Given the description of an element on the screen output the (x, y) to click on. 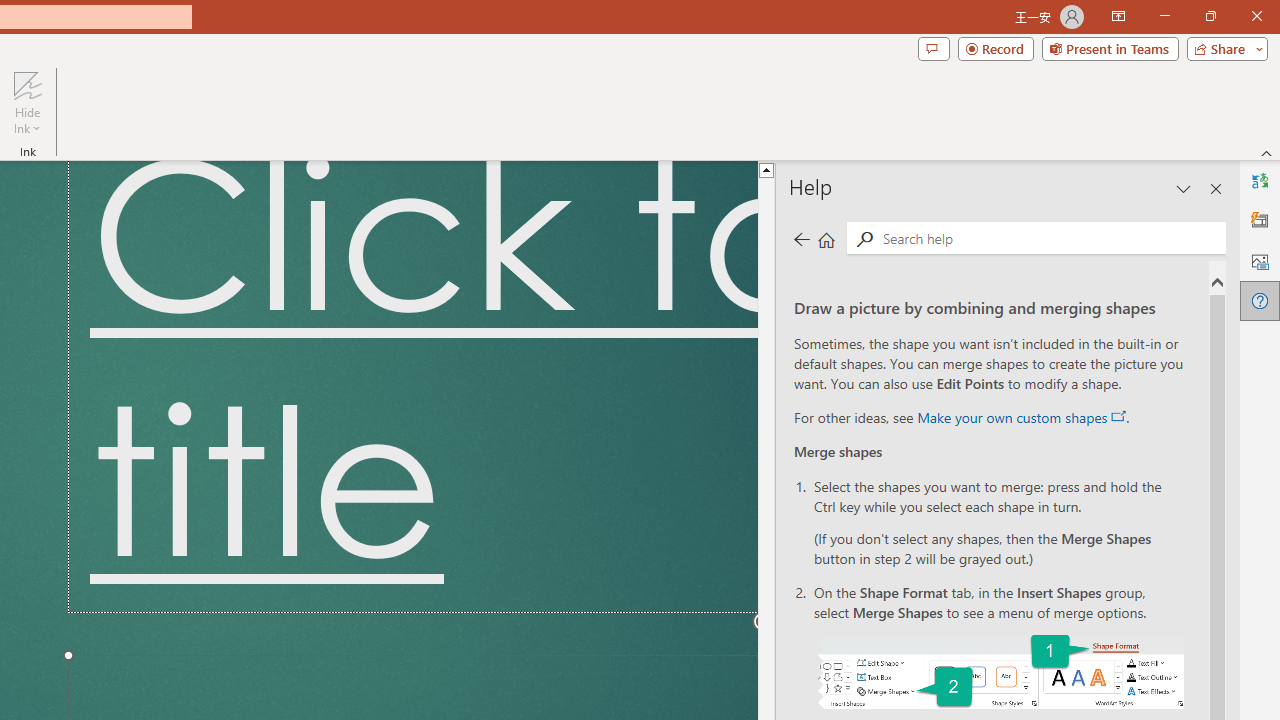
openinnewwindow (1118, 416)
